Given the description of an element on the screen output the (x, y) to click on. 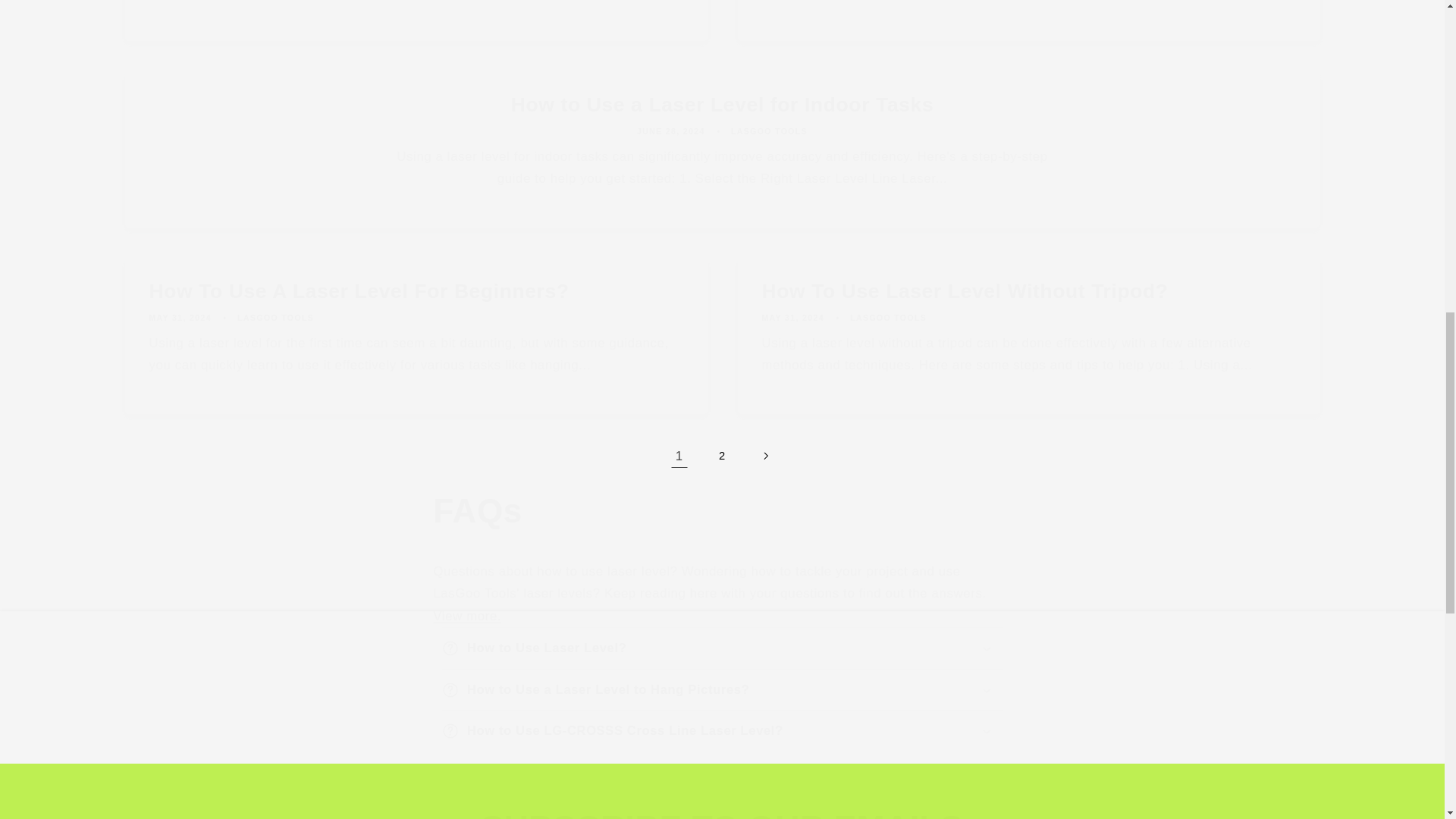
Frequently Asked Questions (466, 616)
FAQs (721, 511)
